Given the description of an element on the screen output the (x, y) to click on. 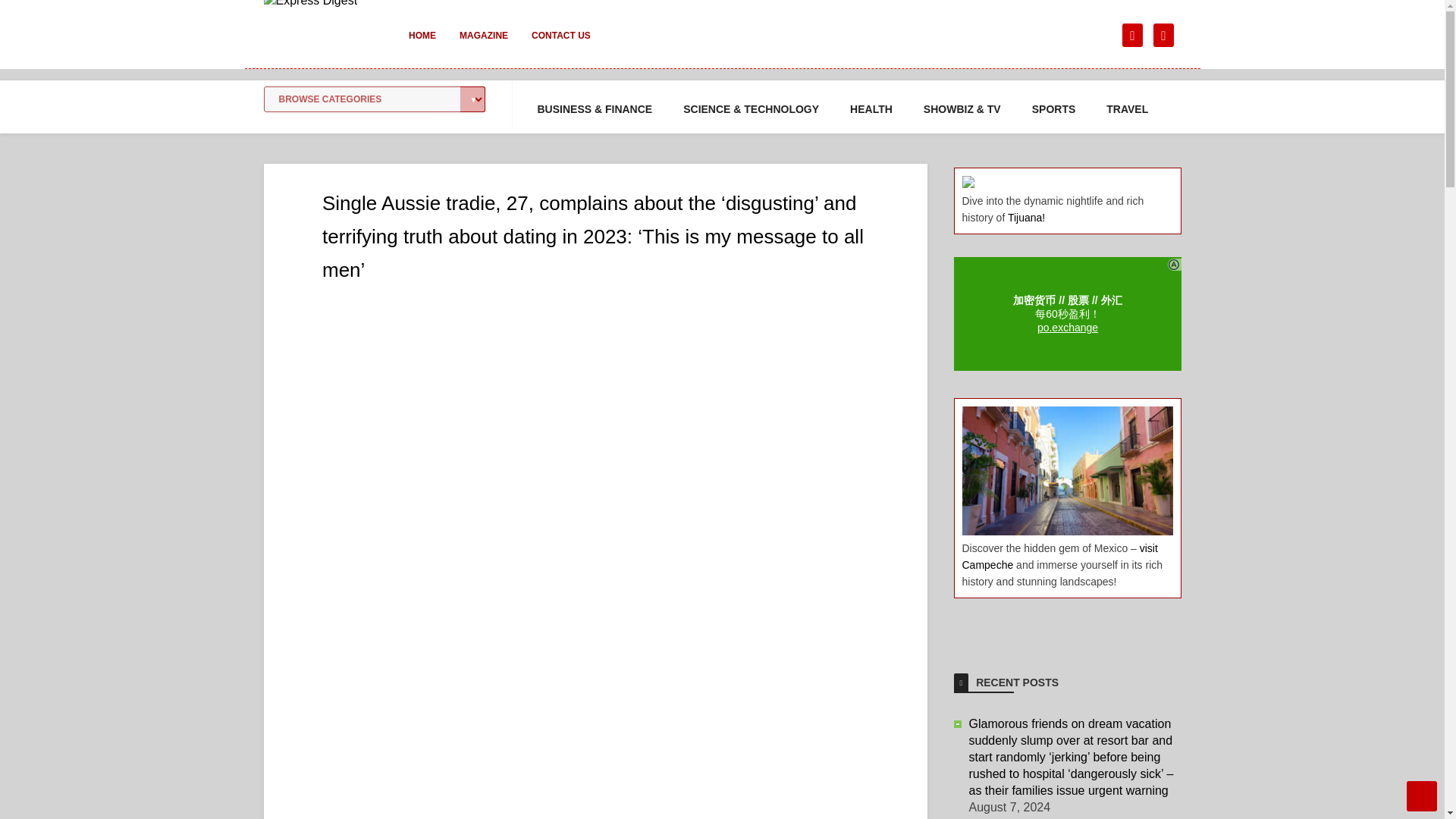
visit Campeche (1058, 556)
HEALTH (871, 109)
MAGAZINE (482, 45)
CONTACT US (560, 45)
SPORTS (1053, 109)
Tijuana! (1026, 217)
TRAVEL (1127, 109)
